Given the description of an element on the screen output the (x, y) to click on. 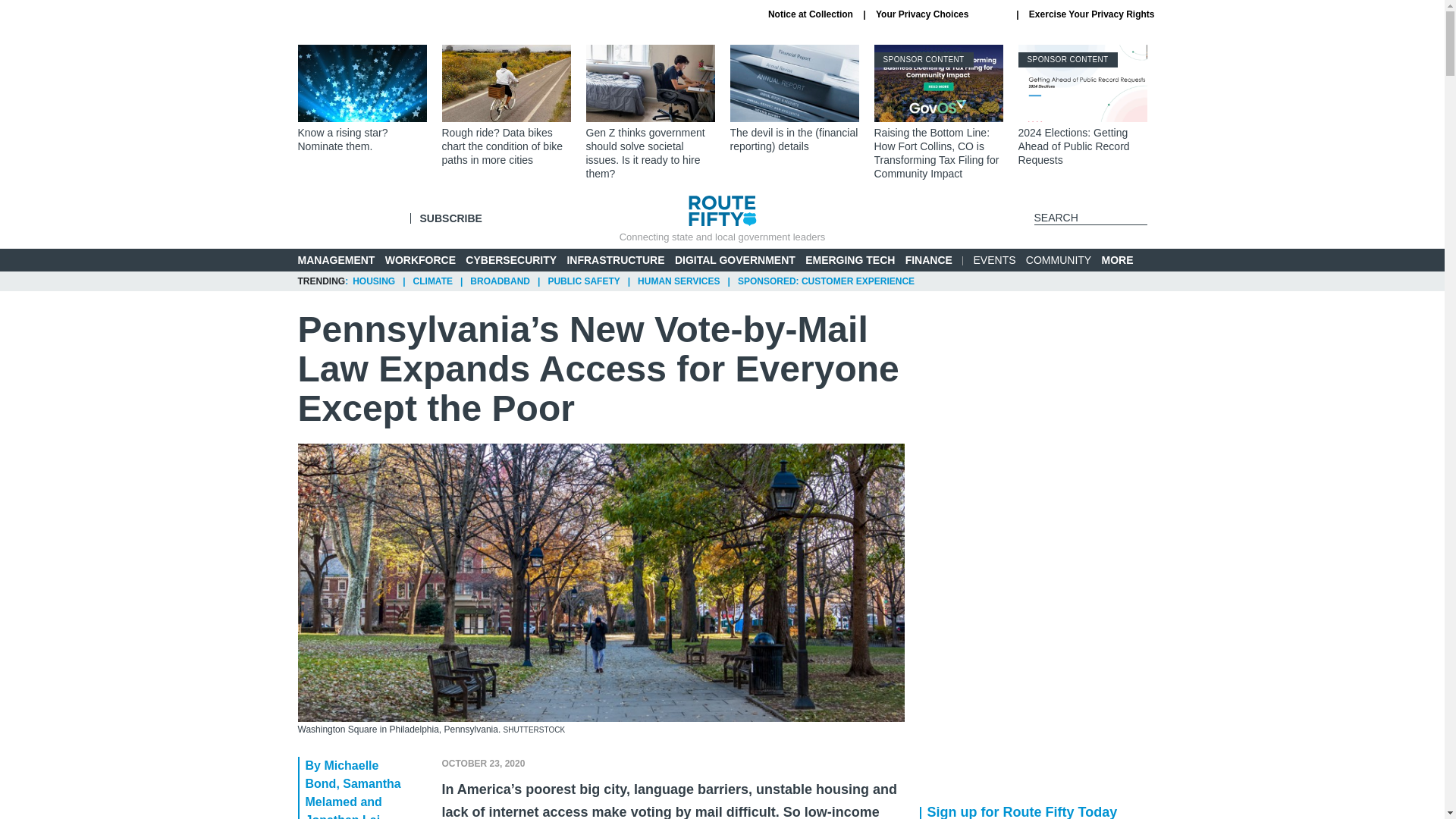
WORKFORCE (420, 259)
SUBSCRIBE (450, 218)
INFRASTRUCTURE (614, 259)
Know a rising star? Nominate them. (361, 99)
MANAGEMENT (335, 259)
DIGITAL GOVERNMENT (734, 259)
Exercise Your Privacy Rights (1091, 14)
EMERGING TECH (850, 259)
EVENTS (995, 259)
Notice at Collection (810, 14)
